Given the description of an element on the screen output the (x, y) to click on. 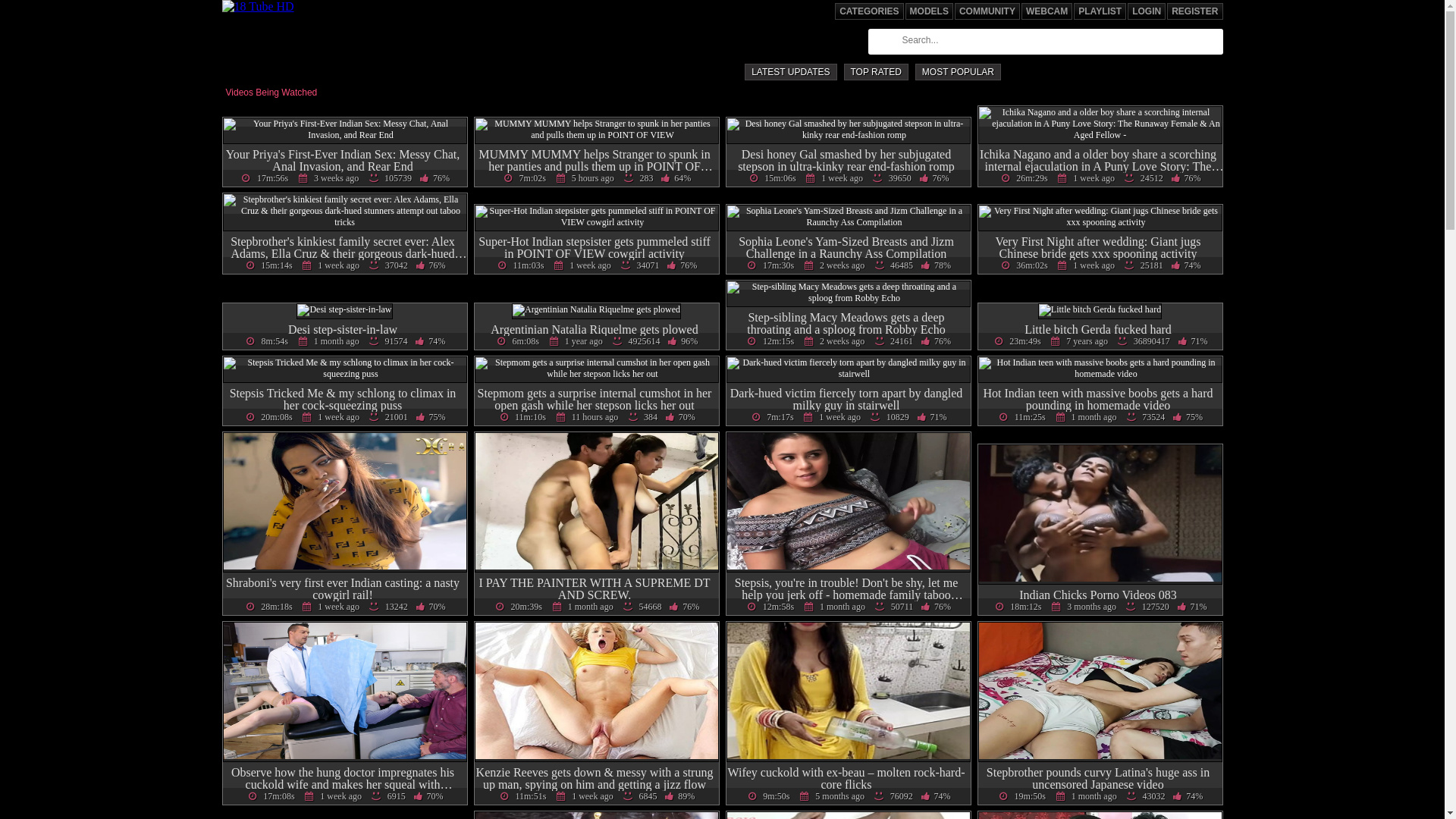
WEBCAM Element type: text (1046, 11)
LOGIN Element type: text (1146, 11)
REGISTER Element type: text (1194, 11)
MODELS Element type: text (929, 11)
LATEST UPDATES Element type: text (790, 71)
TOP RATED Element type: text (875, 71)
CATEGORIES Element type: text (868, 11)
MOST POPULAR Element type: text (958, 71)
Desi step-sister-in-law
  8m:54s   1 month ago   91574 74% Element type: text (344, 327)
PLAYLIST Element type: text (1099, 11)
COMMUNITY Element type: text (986, 11)
18 tube hd Element type: hover (257, 6)
